Given the description of an element on the screen output the (x, y) to click on. 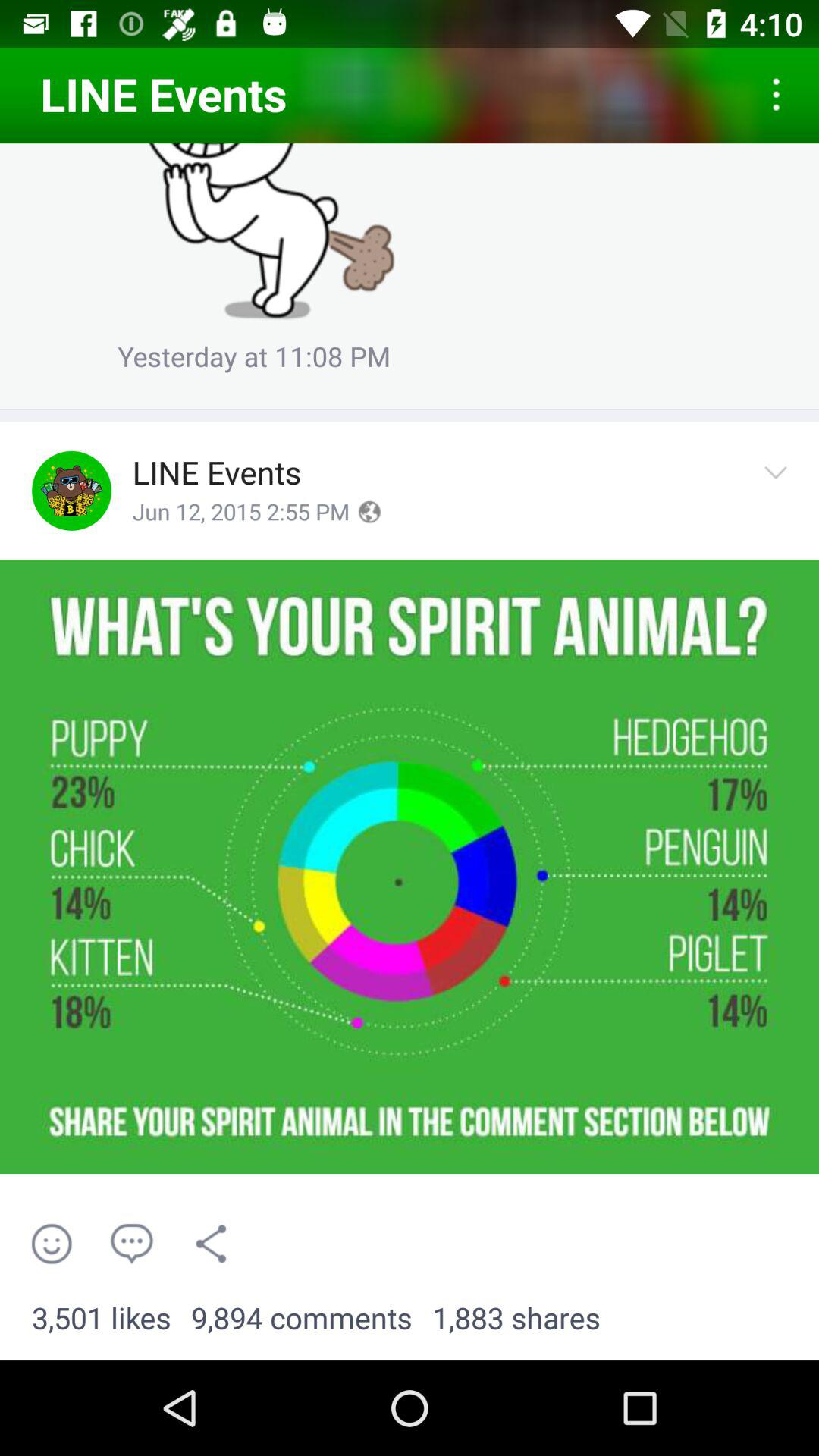
earth internet symbol (368, 512)
